Given the description of an element on the screen output the (x, y) to click on. 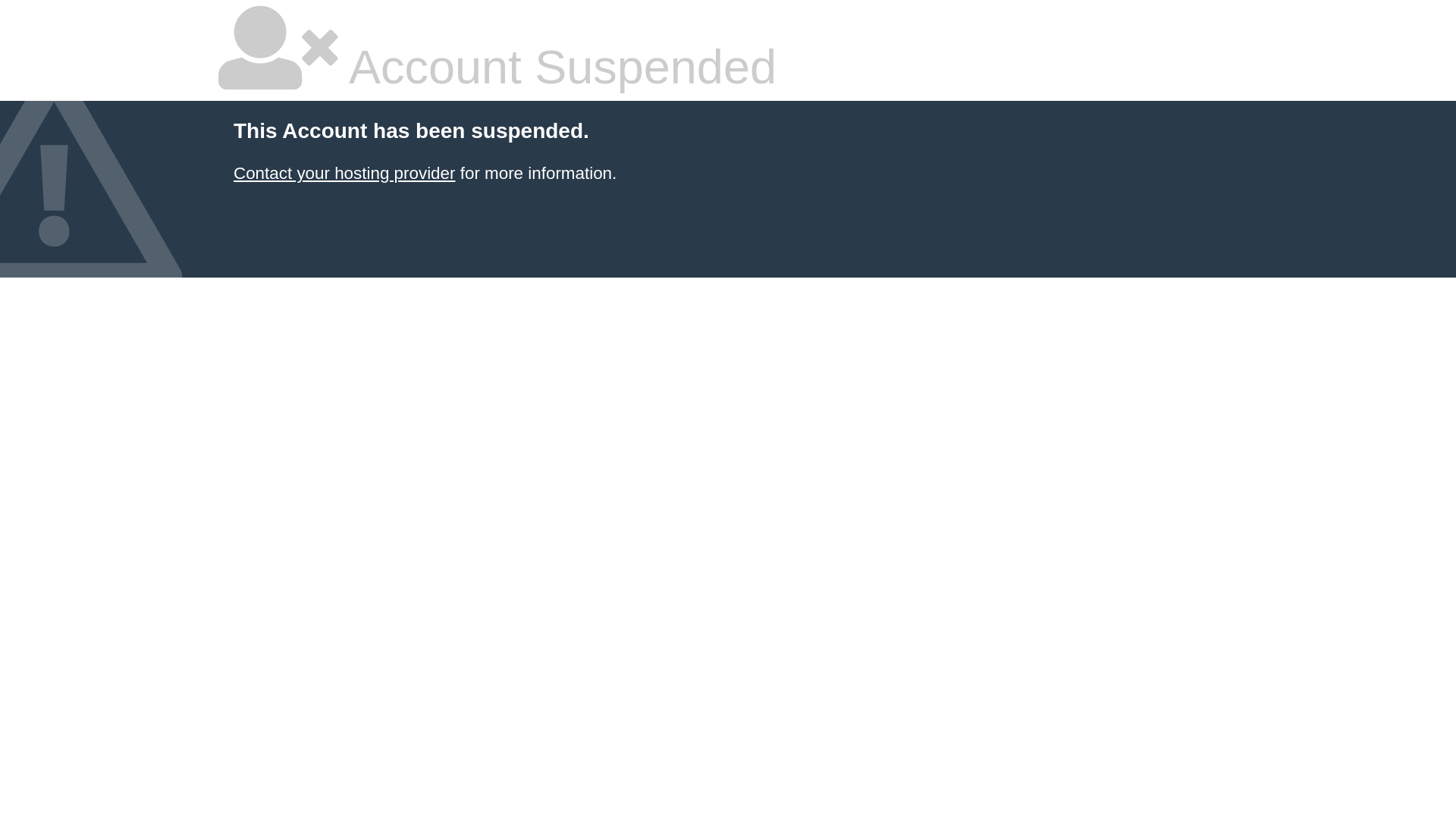
Contact your hosting provider Element type: text (344, 172)
